Given the description of an element on the screen output the (x, y) to click on. 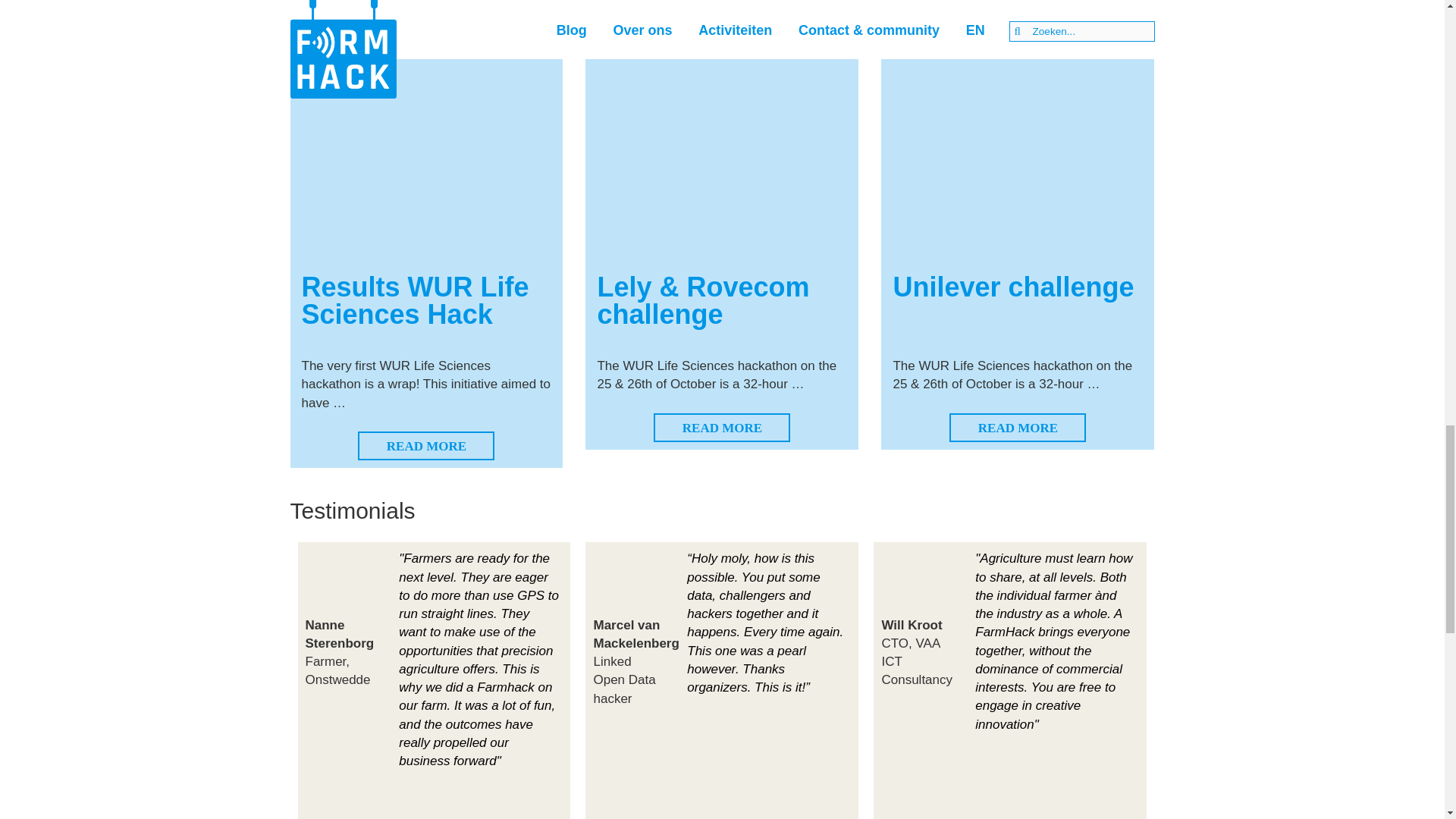
READ MORE (721, 427)
READ MORE (426, 445)
Results WUR Life Sciences Hack (415, 300)
